Given the description of an element on the screen output the (x, y) to click on. 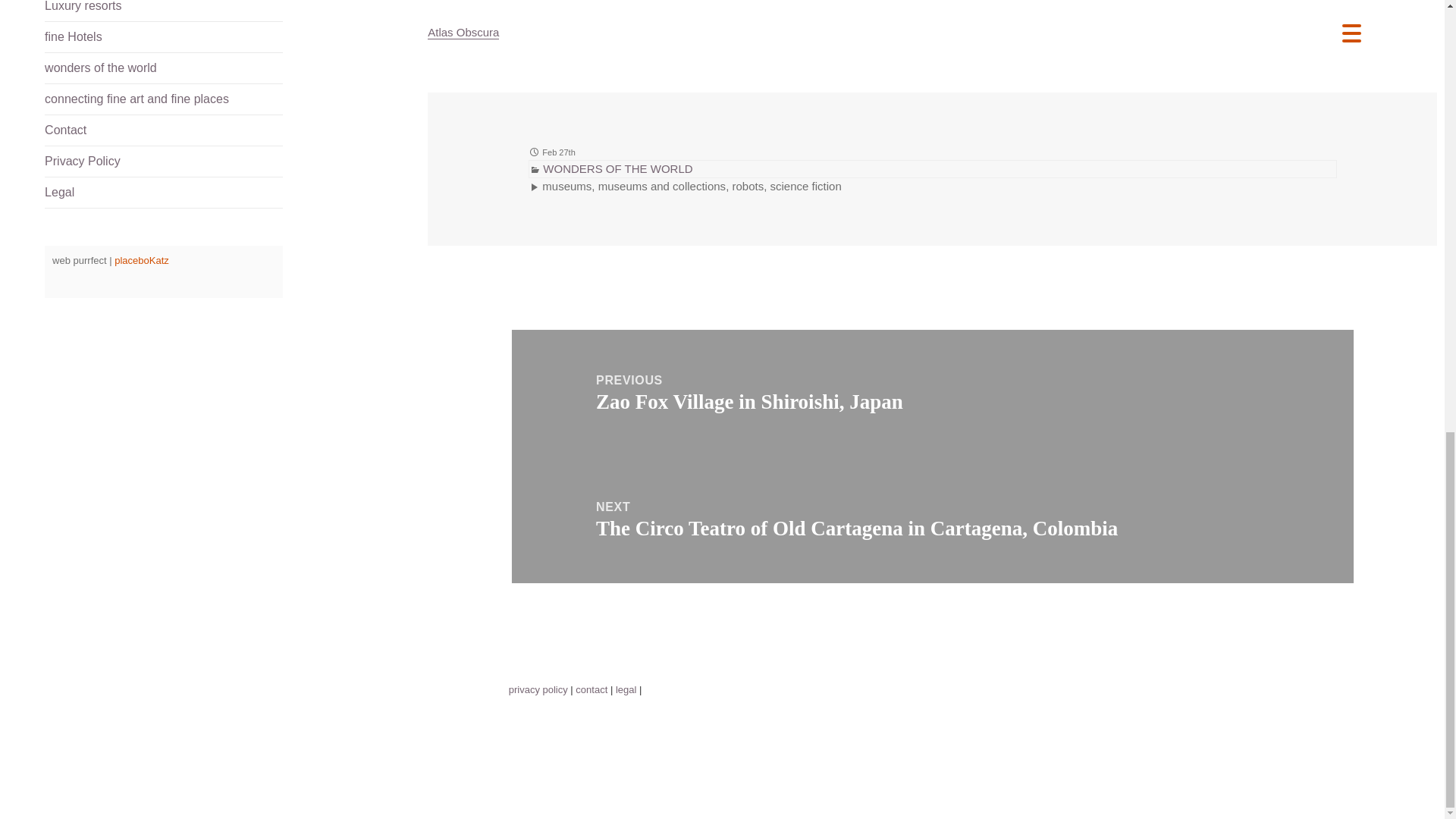
wonders of the world (163, 68)
Feb 27th (558, 151)
 Excellence in design, art and hospitality. (163, 37)
Get in touch. (163, 130)
fine Hotels (163, 37)
A selection of the finests resorts from around the world. (163, 10)
Privacy Policy (163, 161)
Legal (163, 192)
Atlas Obscura (463, 32)
connecting fine art and fine places (163, 99)
The wonders and curiosities of the Atlas Obscura. (463, 32)
Contact (163, 130)
WONDERS OF THE WORLD (618, 169)
Luxury resorts (163, 10)
placeboKatz (141, 260)
